Given the description of an element on the screen output the (x, y) to click on. 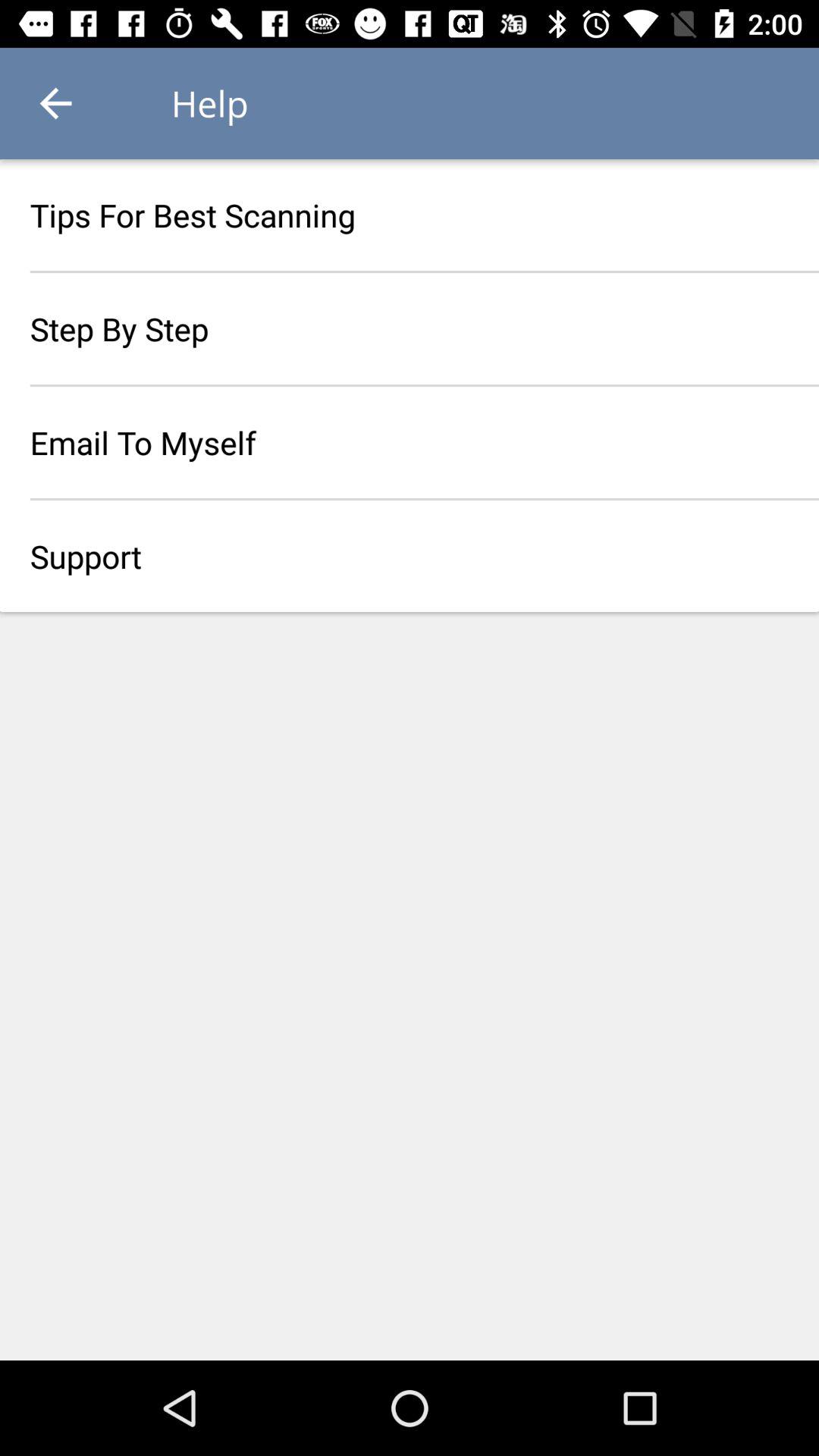
turn off item above email to myself icon (409, 328)
